Given the description of an element on the screen output the (x, y) to click on. 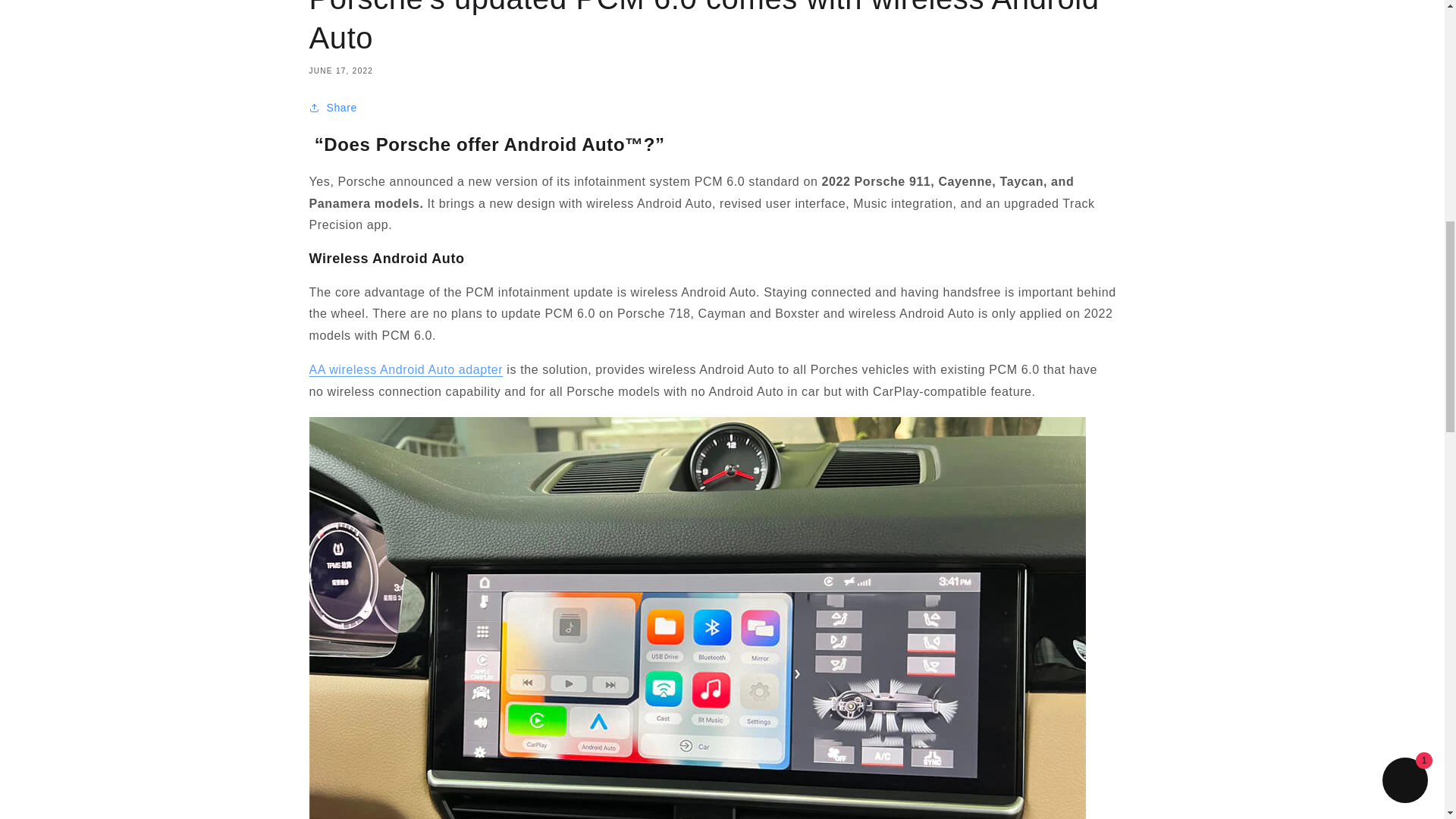
AACarPlay wireless Android Auto adapter (405, 369)
